Given the description of an element on the screen output the (x, y) to click on. 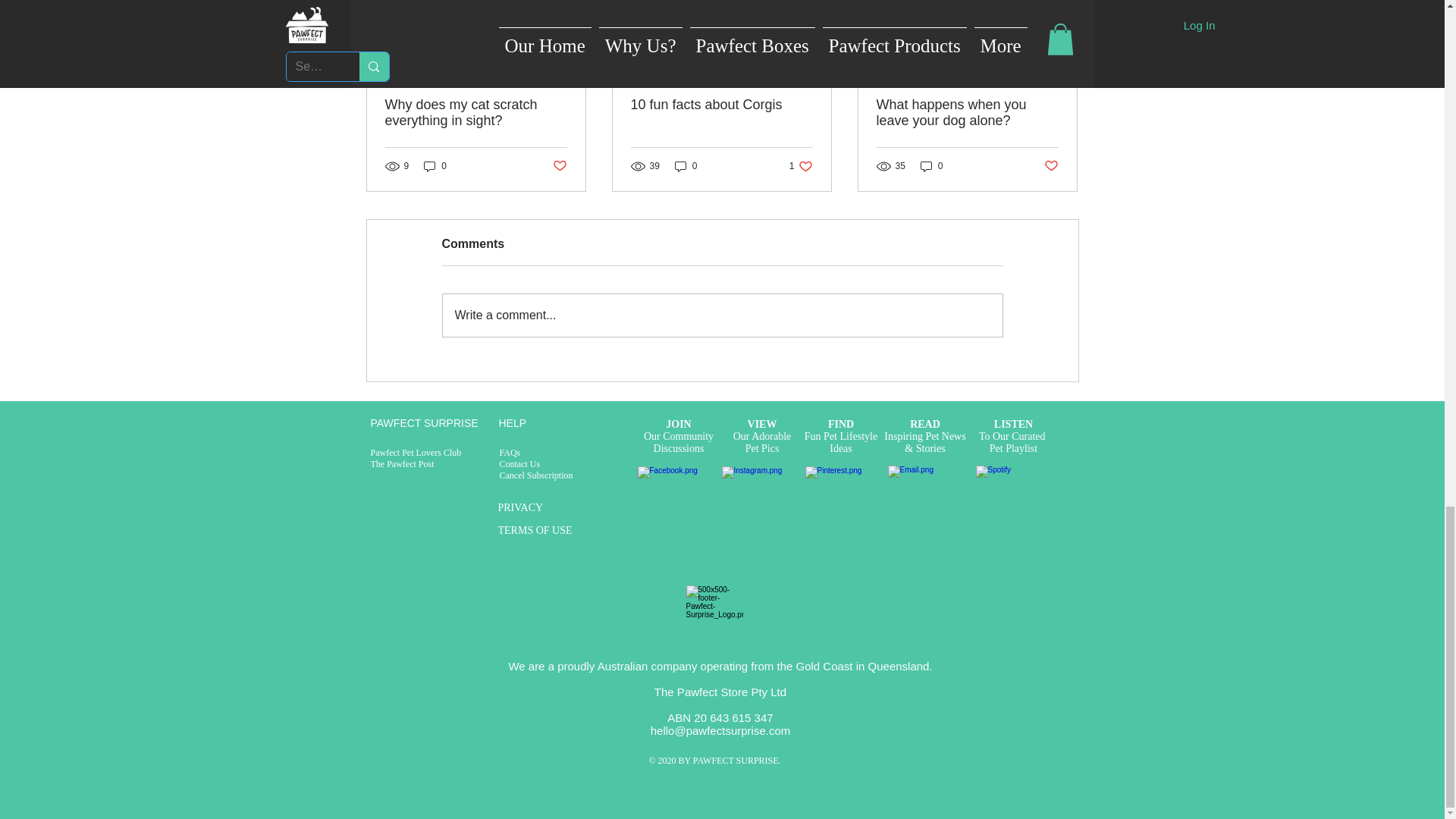
Why does my cat scratch everything in sight? (800, 165)
0 (476, 112)
Post not marked as liked (685, 165)
0 (558, 166)
10 fun facts about Corgis (435, 165)
